Given the description of an element on the screen output the (x, y) to click on. 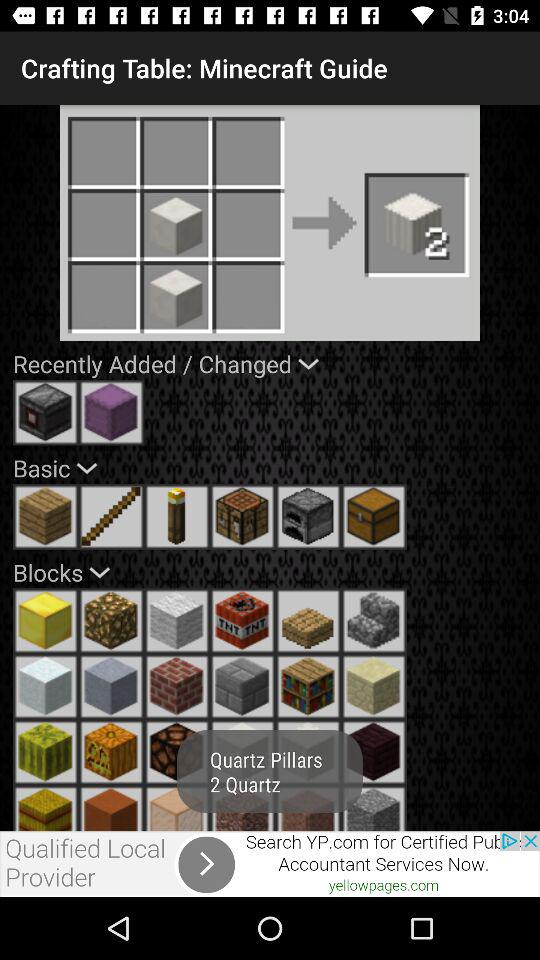
share article (270, 864)
